Given the description of an element on the screen output the (x, y) to click on. 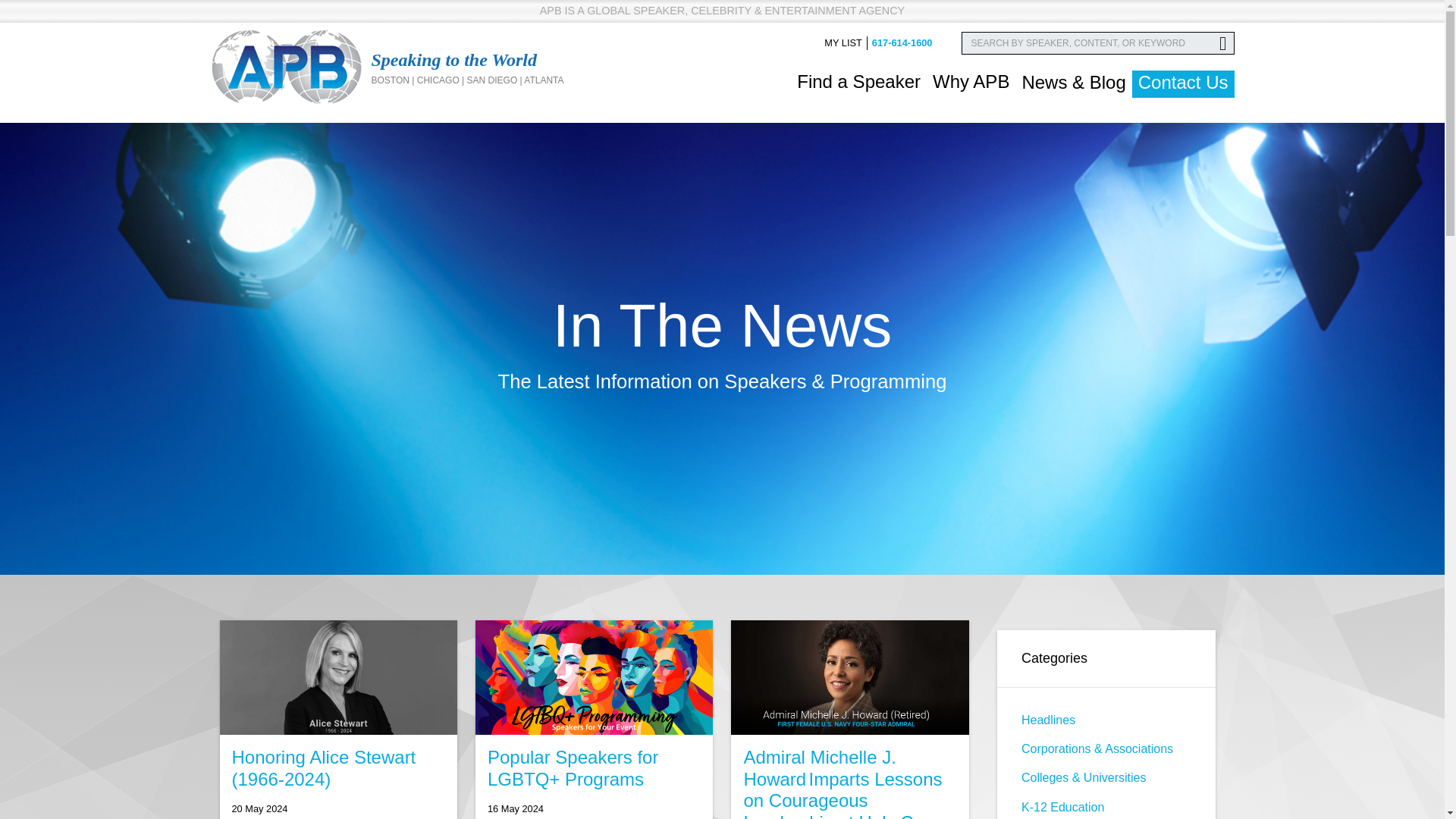
Contact Us (1183, 83)
Find a Speaker (858, 82)
617-614-1600 (902, 42)
Why APB (970, 82)
MY LIST (842, 42)
